Given the description of an element on the screen output the (x, y) to click on. 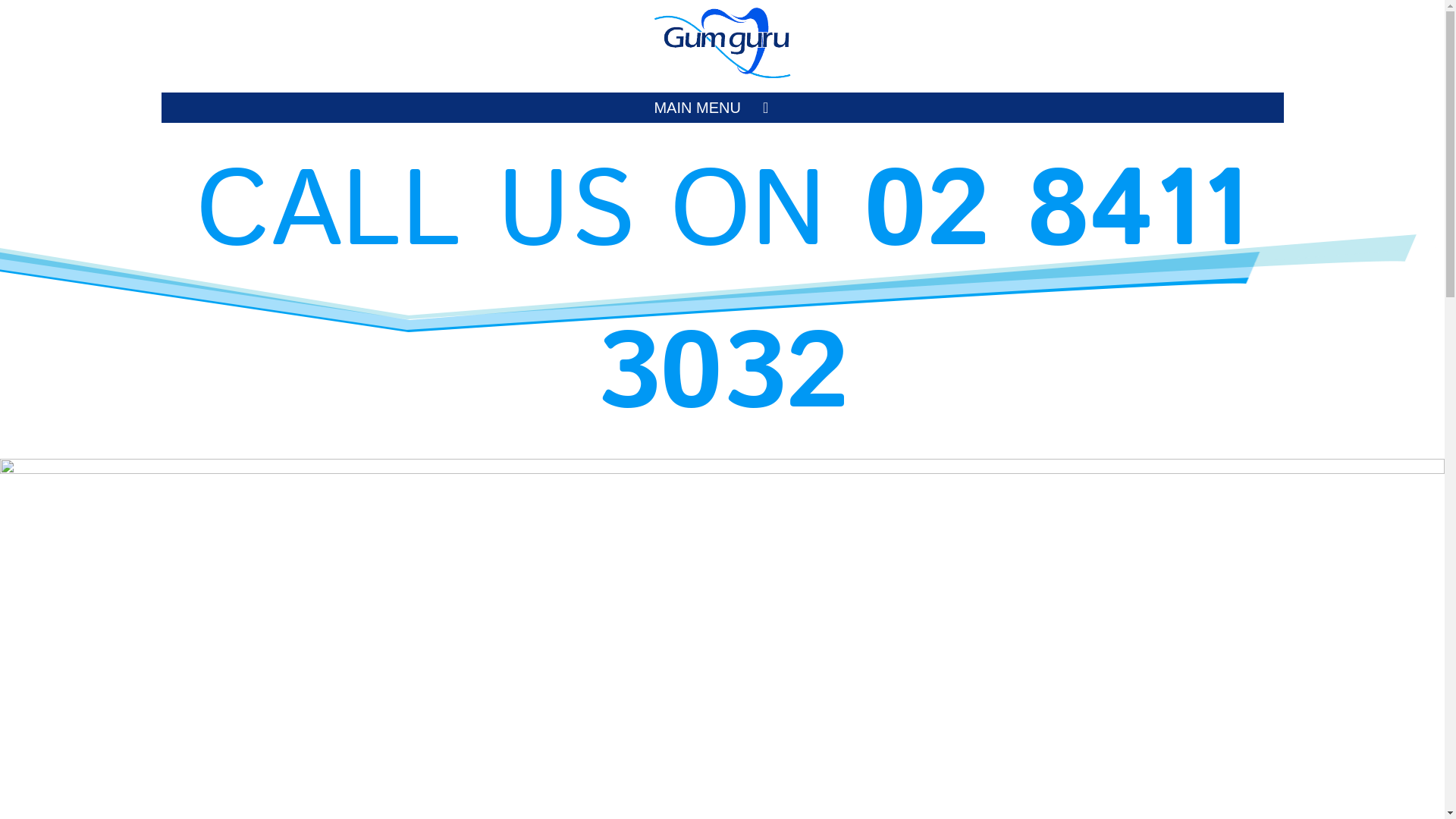
MAIN MENU Element type: text (721, 107)
Gumguru Periodontics Element type: text (721, 30)
